Given the description of an element on the screen output the (x, y) to click on. 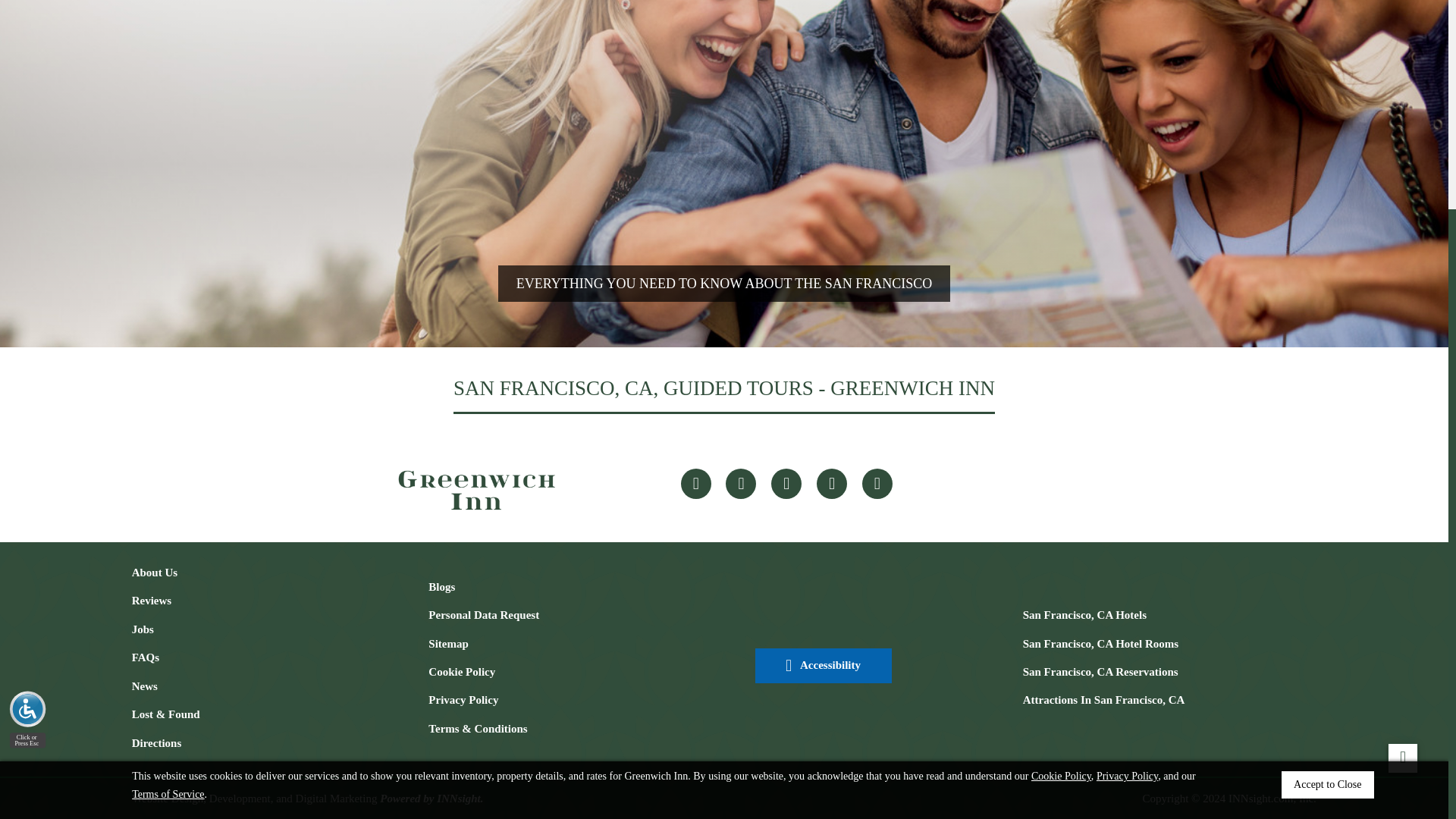
Scroll to Top (1402, 477)
